Given the description of an element on the screen output the (x, y) to click on. 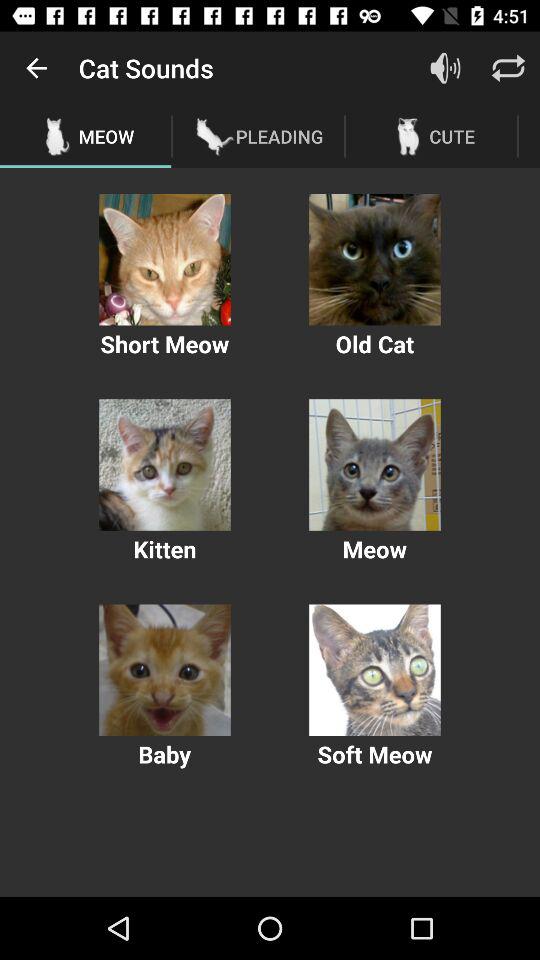
increase or decrease volume (445, 67)
